Given the description of an element on the screen output the (x, y) to click on. 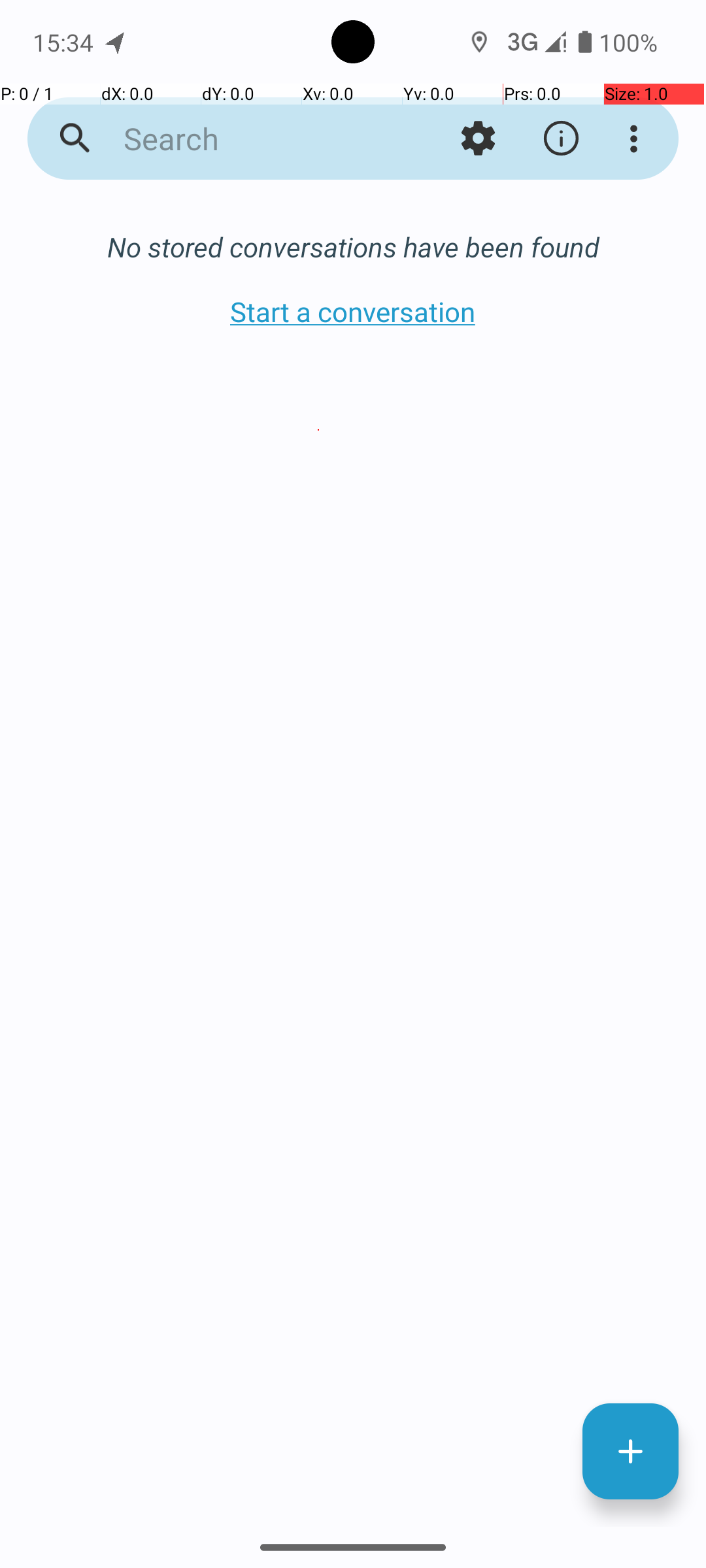
No stored conversations have been found Element type: android.widget.TextView (353, 246)
Start a conversation Element type: android.widget.TextView (352, 311)
